Given the description of an element on the screen output the (x, y) to click on. 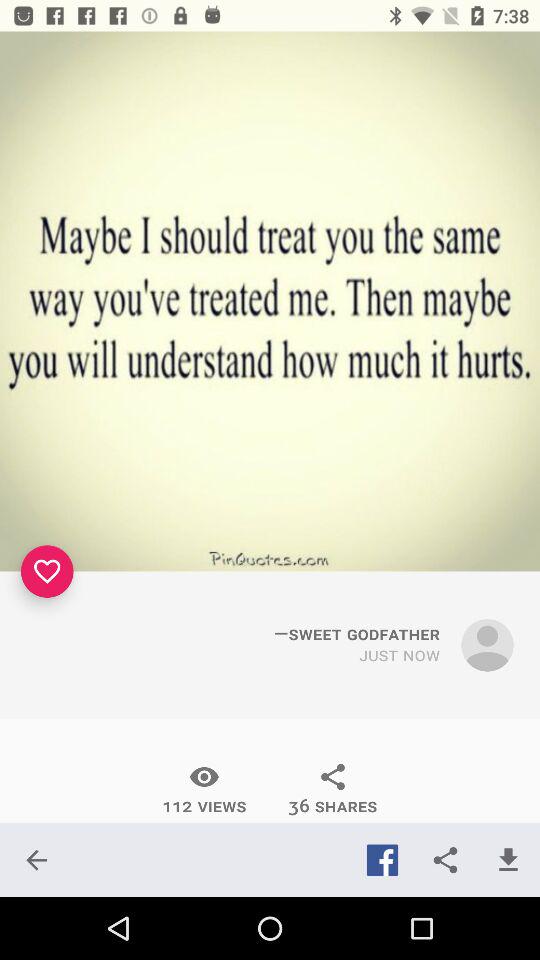
like and love (47, 571)
